Given the description of an element on the screen output the (x, y) to click on. 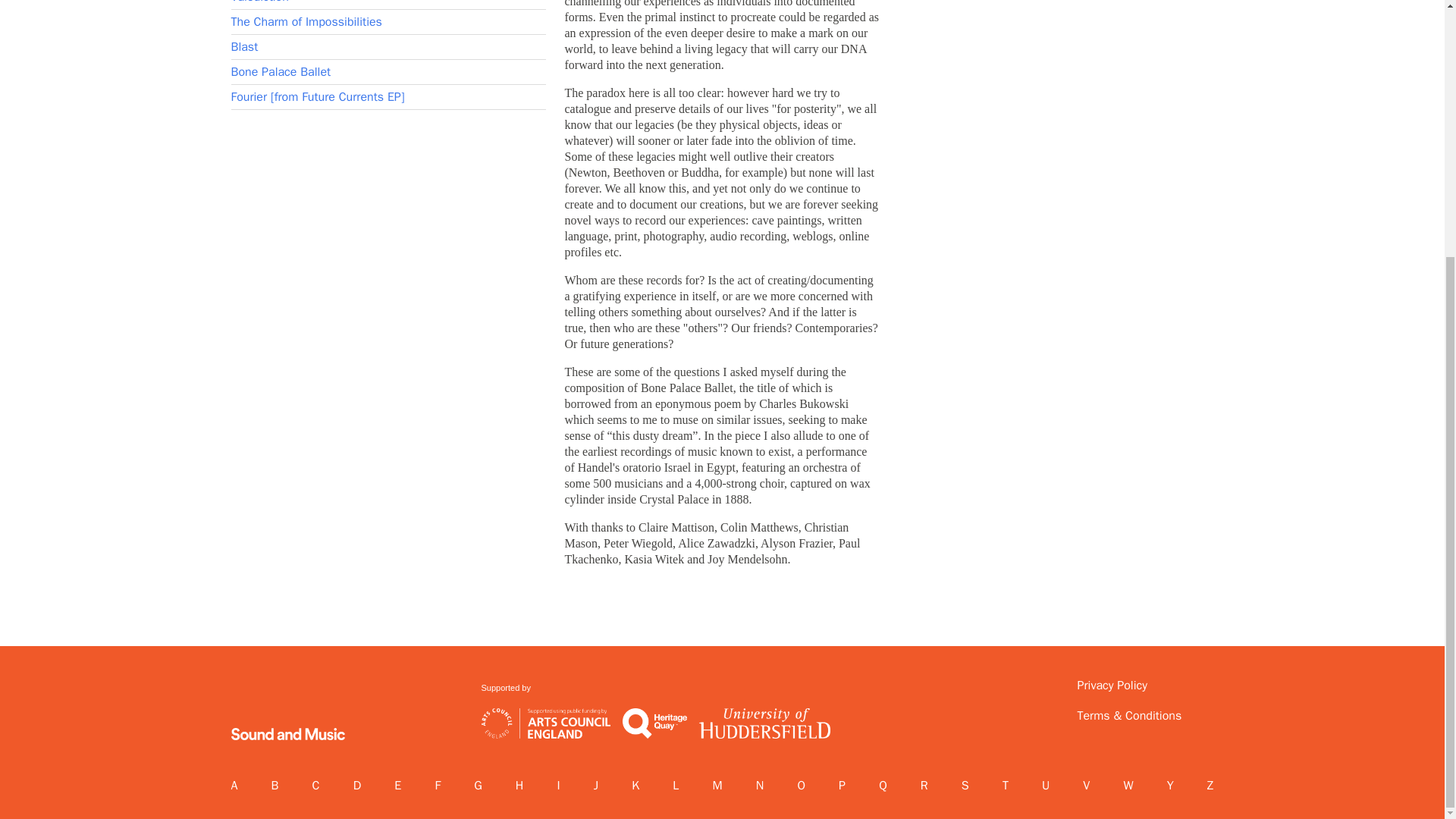
Valediction (259, 2)
The Charm of Impossibilities (305, 21)
Bone Palace Ballet (280, 71)
Privacy Policy (1138, 685)
Blast (243, 46)
